Given the description of an element on the screen output the (x, y) to click on. 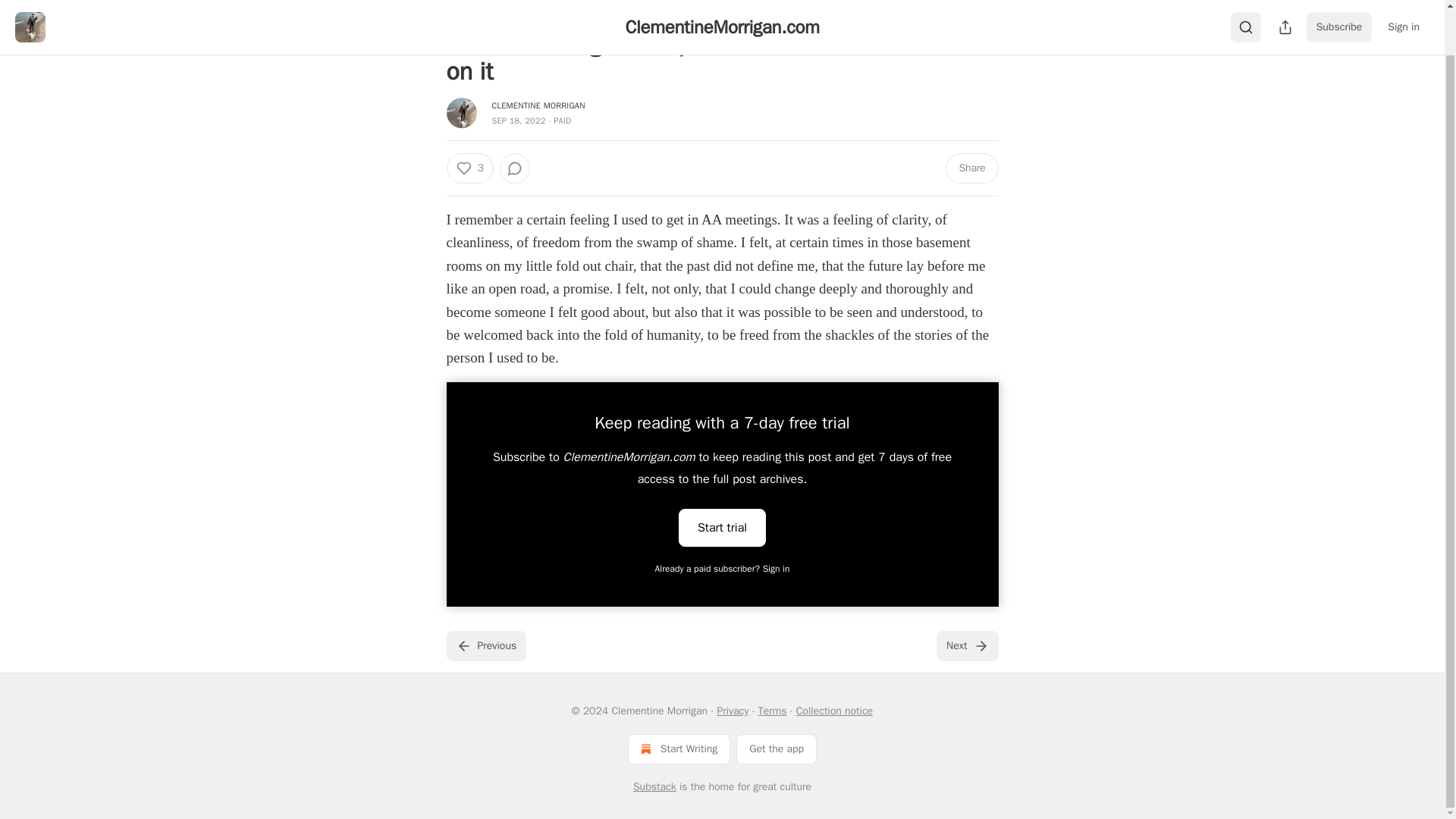
Terms (772, 710)
Collection notice (834, 710)
Already a paid subscriber? Sign in (722, 568)
Start Writing (678, 748)
Start trial (721, 527)
Share (970, 168)
Substack (655, 786)
Previous (485, 645)
3 (469, 168)
Next (966, 645)
Start trial (721, 526)
Get the app (776, 748)
CLEMENTINE MORRIGAN (538, 104)
Privacy (732, 710)
